Given the description of an element on the screen output the (x, y) to click on. 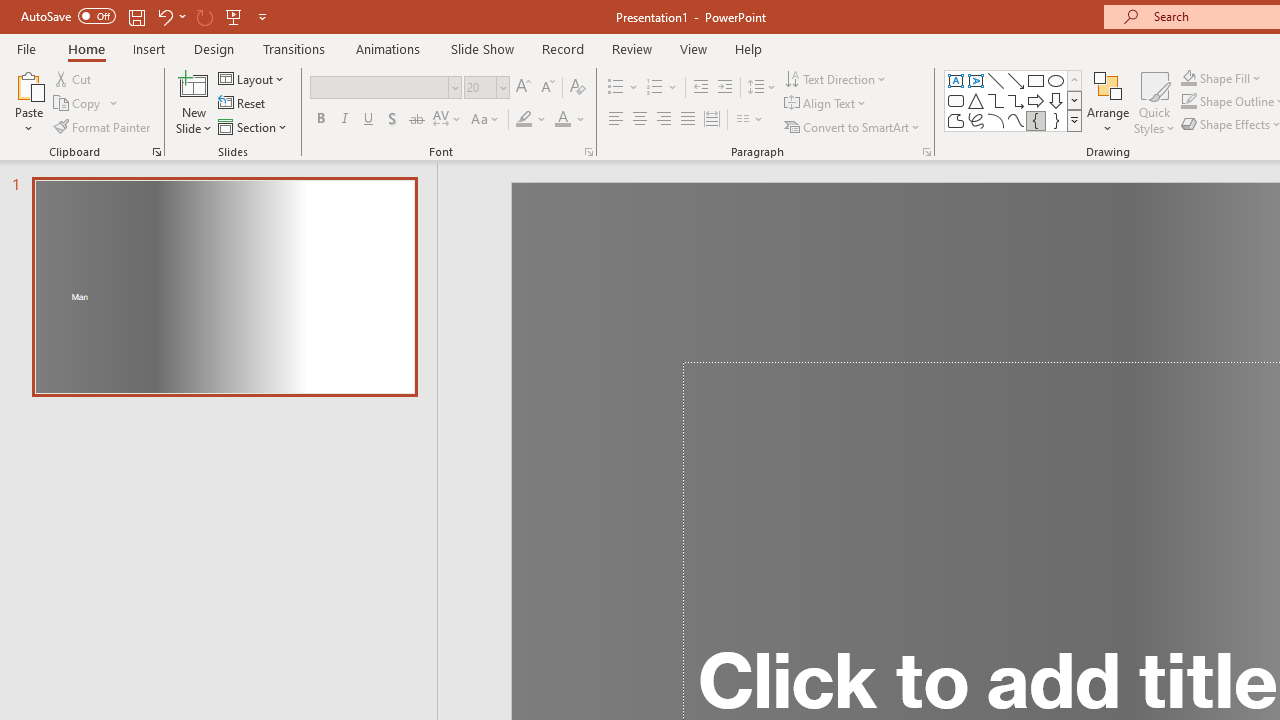
Shape Outline Blue, Accent 1 (1188, 101)
Align Right (663, 119)
Arrow: Right (1035, 100)
Bold (320, 119)
Curve (1016, 120)
Shadow (392, 119)
Copy (85, 103)
Connector: Elbow (995, 100)
Section (254, 126)
